Given the description of an element on the screen output the (x, y) to click on. 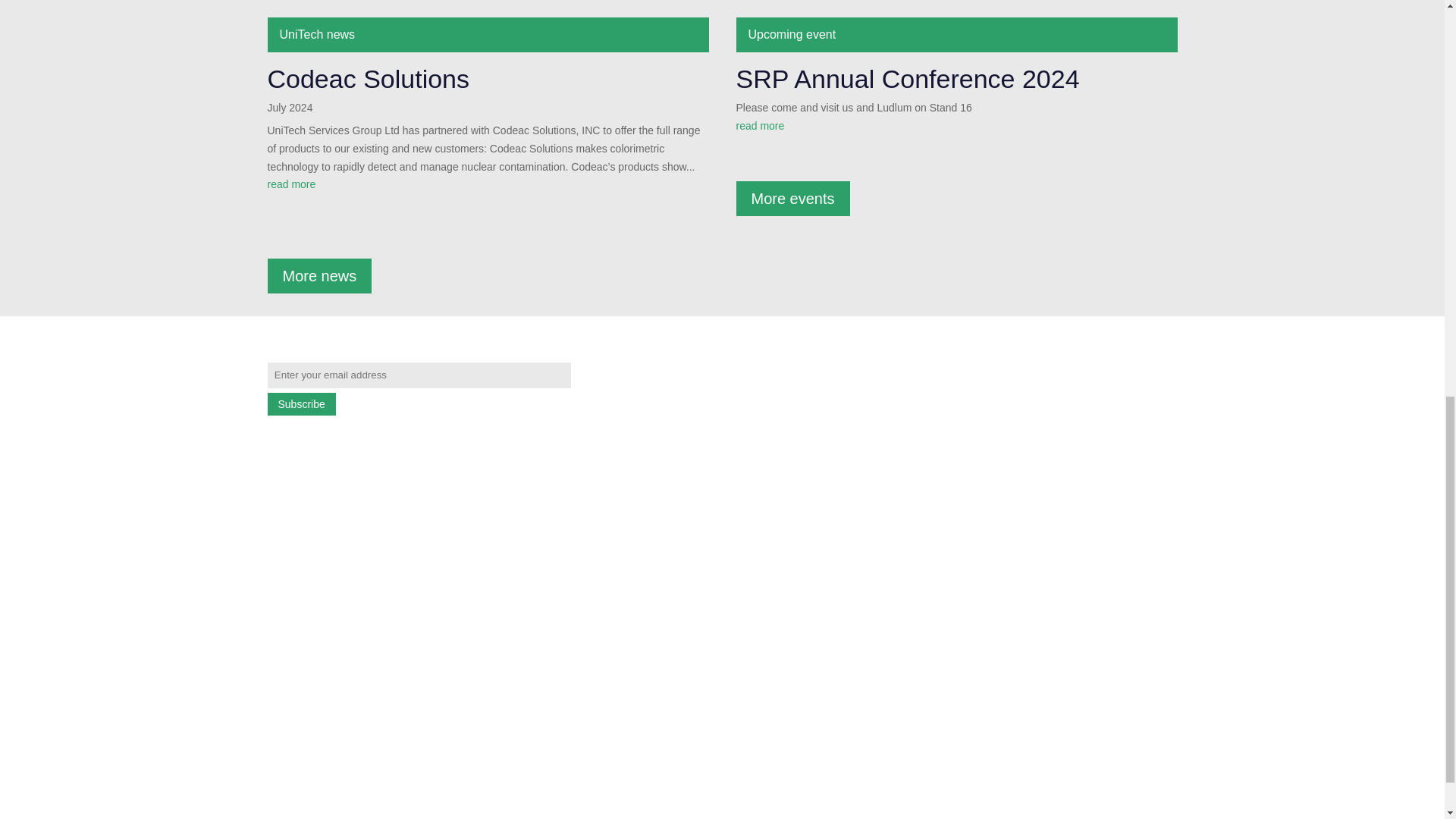
Subscribe (300, 404)
